Given the description of an element on the screen output the (x, y) to click on. 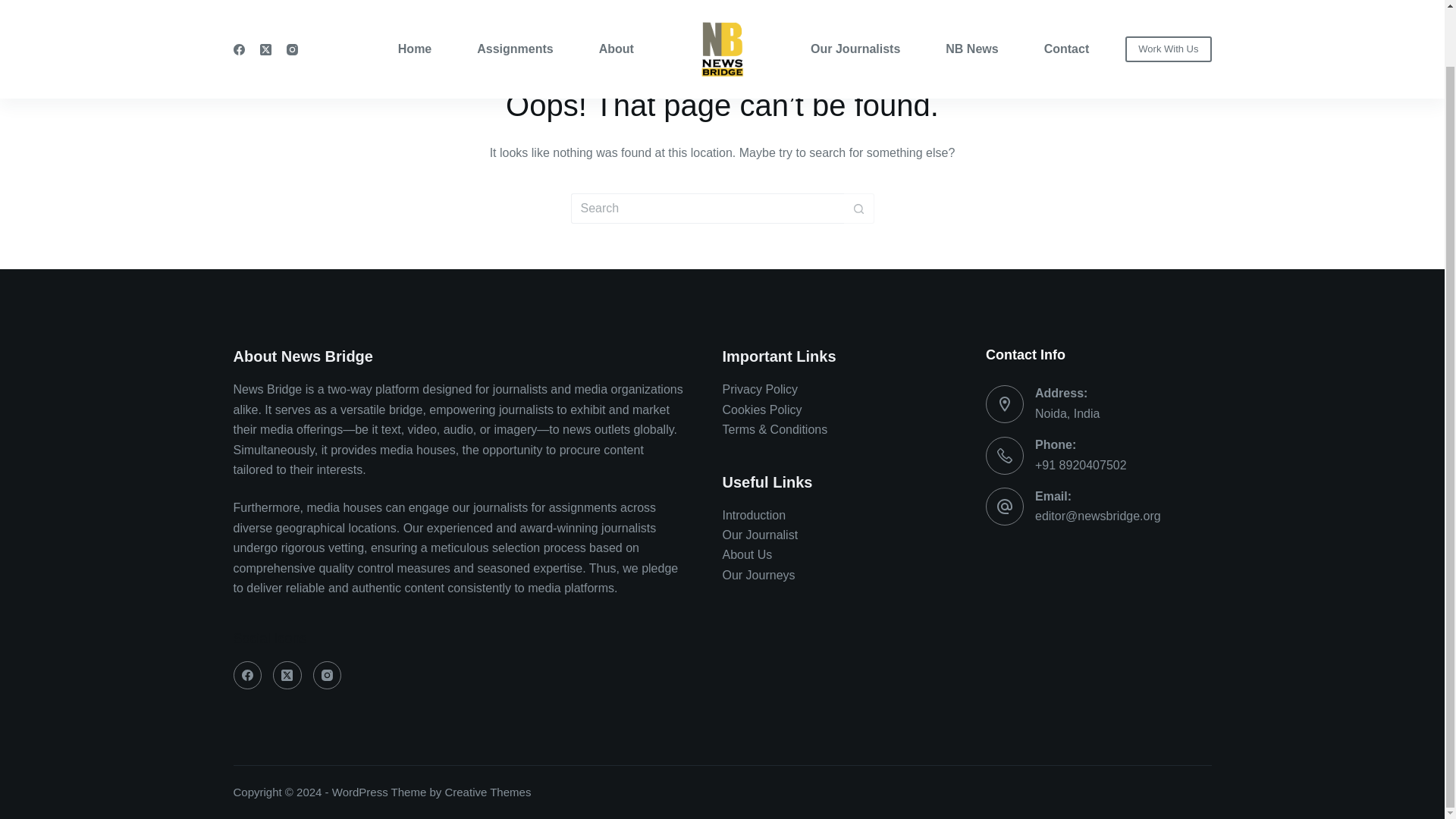
Home (425, 18)
Our Journalists (866, 18)
Assignments (514, 18)
About (604, 18)
Introduction (754, 514)
Creative Themes (487, 791)
About Us (746, 554)
NB News (971, 18)
Our Journalist (759, 534)
Cookies Policy (762, 409)
Privacy Policy (759, 389)
Search for... (706, 208)
Our Journeys (758, 574)
Contact (1055, 18)
